Given the description of an element on the screen output the (x, y) to click on. 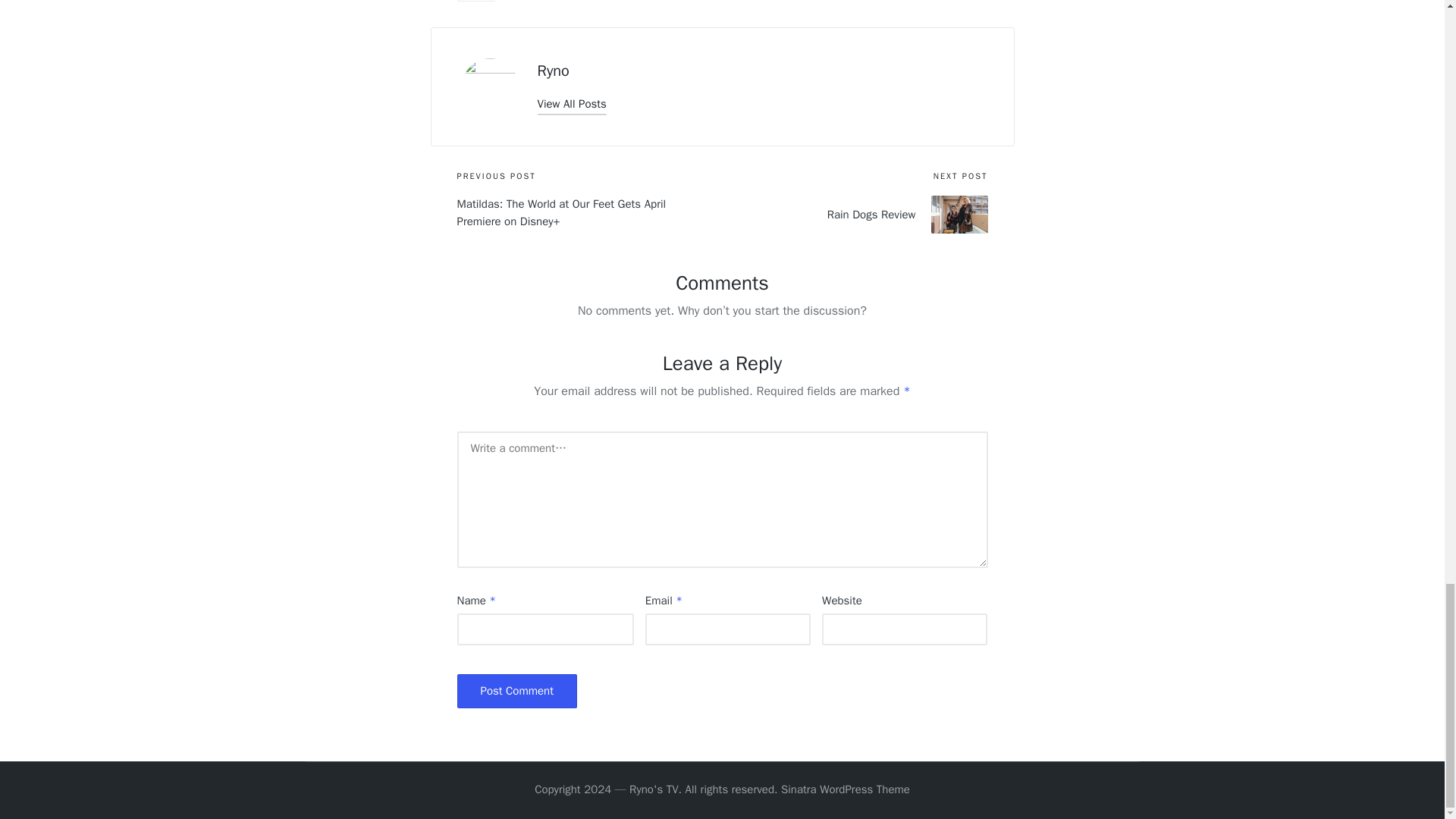
Ryno (553, 70)
Post Comment (516, 691)
Barry (476, 0)
